Given the description of an element on the screen output the (x, y) to click on. 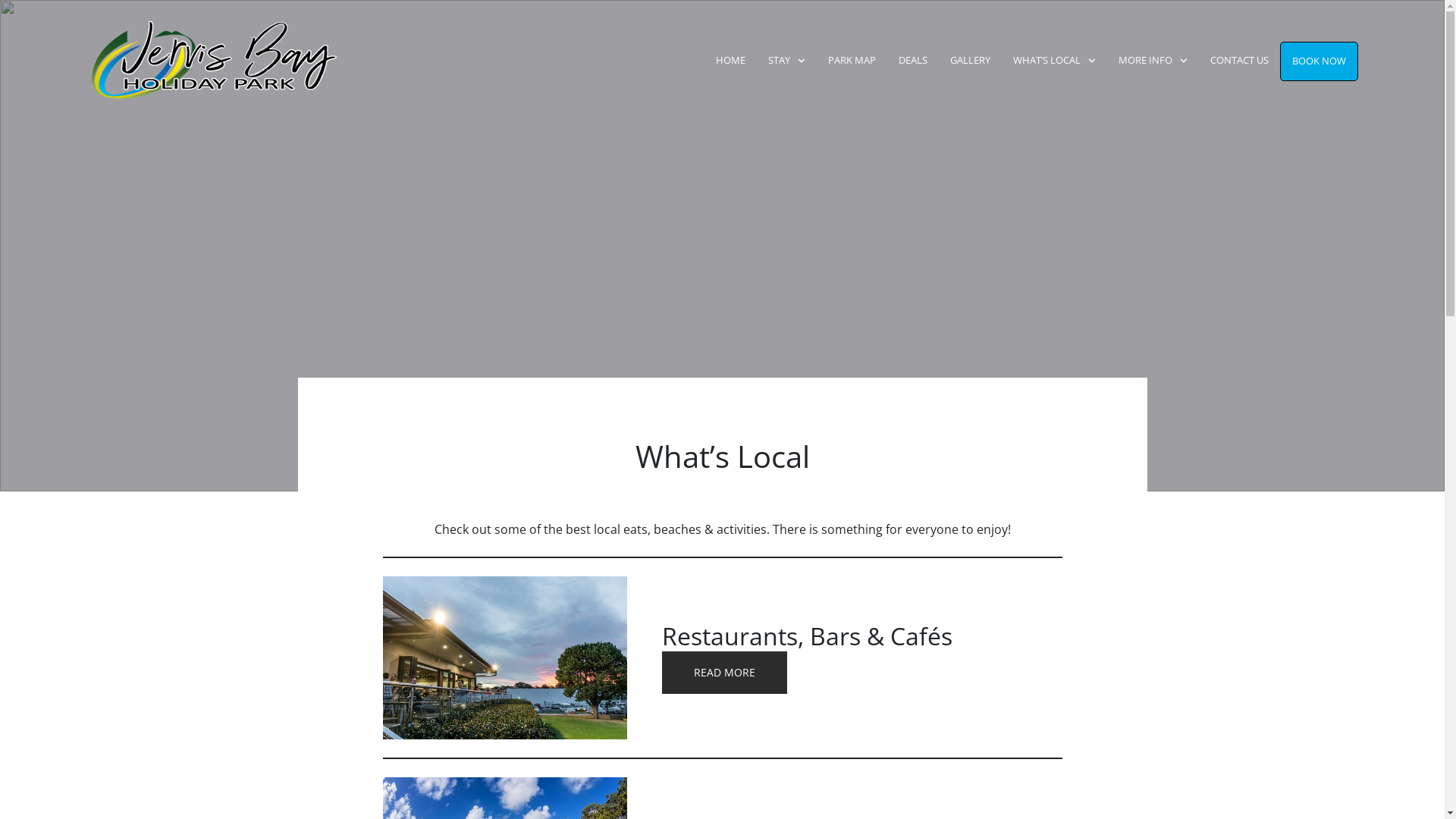
BOOK NOW Element type: text (1319, 61)
MORE INFO Element type: text (1152, 60)
READ MORE Element type: text (724, 672)
PARK MAP Element type: text (851, 60)
Jervis Bay Holiday Park Element type: text (185, 60)
DEALS Element type: text (912, 60)
HOME Element type: text (730, 60)
STAY Element type: text (786, 60)
GALLERY Element type: text (970, 60)
CONTACT US Element type: text (1239, 60)
